Given the description of an element on the screen output the (x, y) to click on. 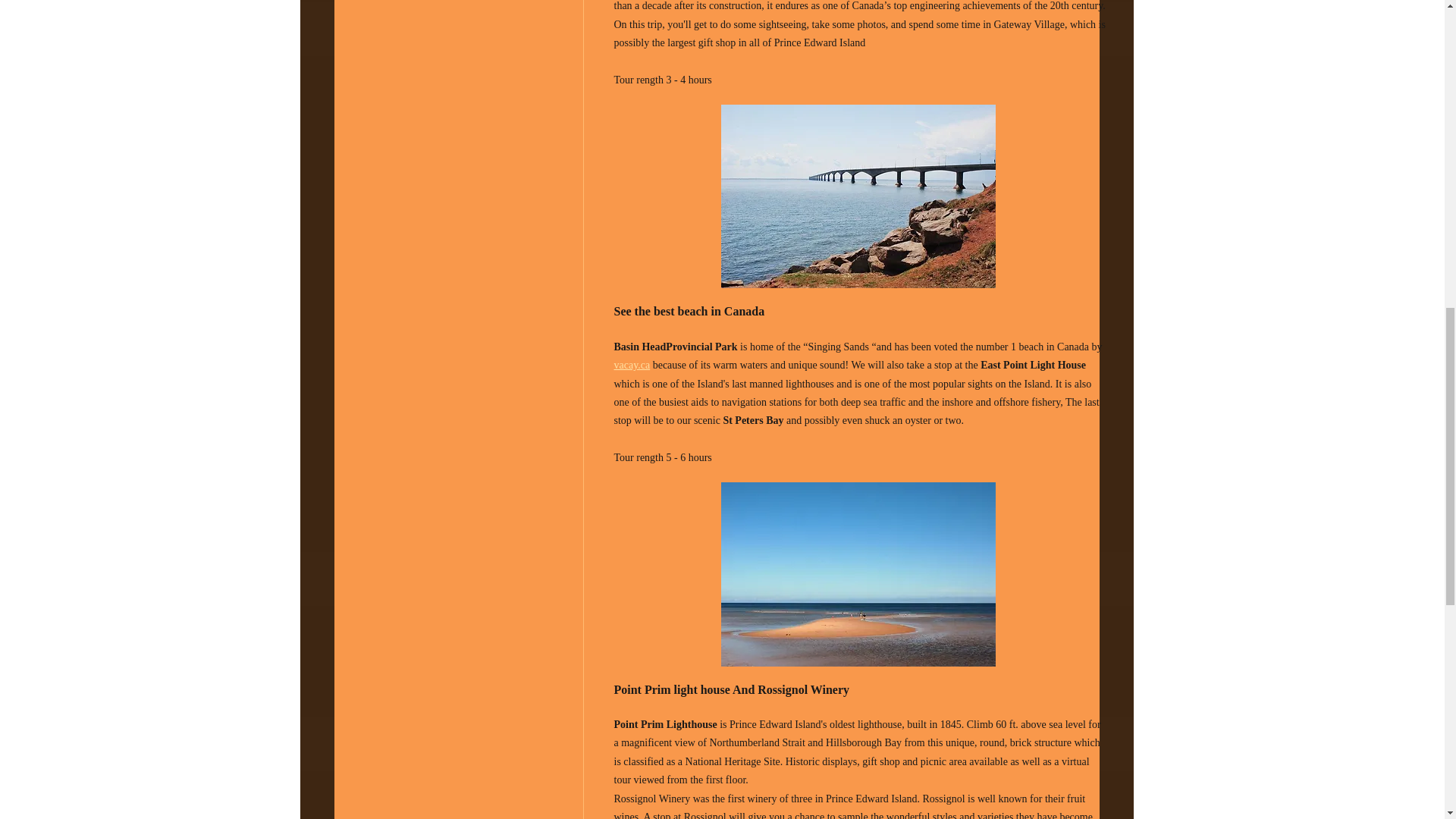
vacay.ca (632, 365)
